Given the description of an element on the screen output the (x, y) to click on. 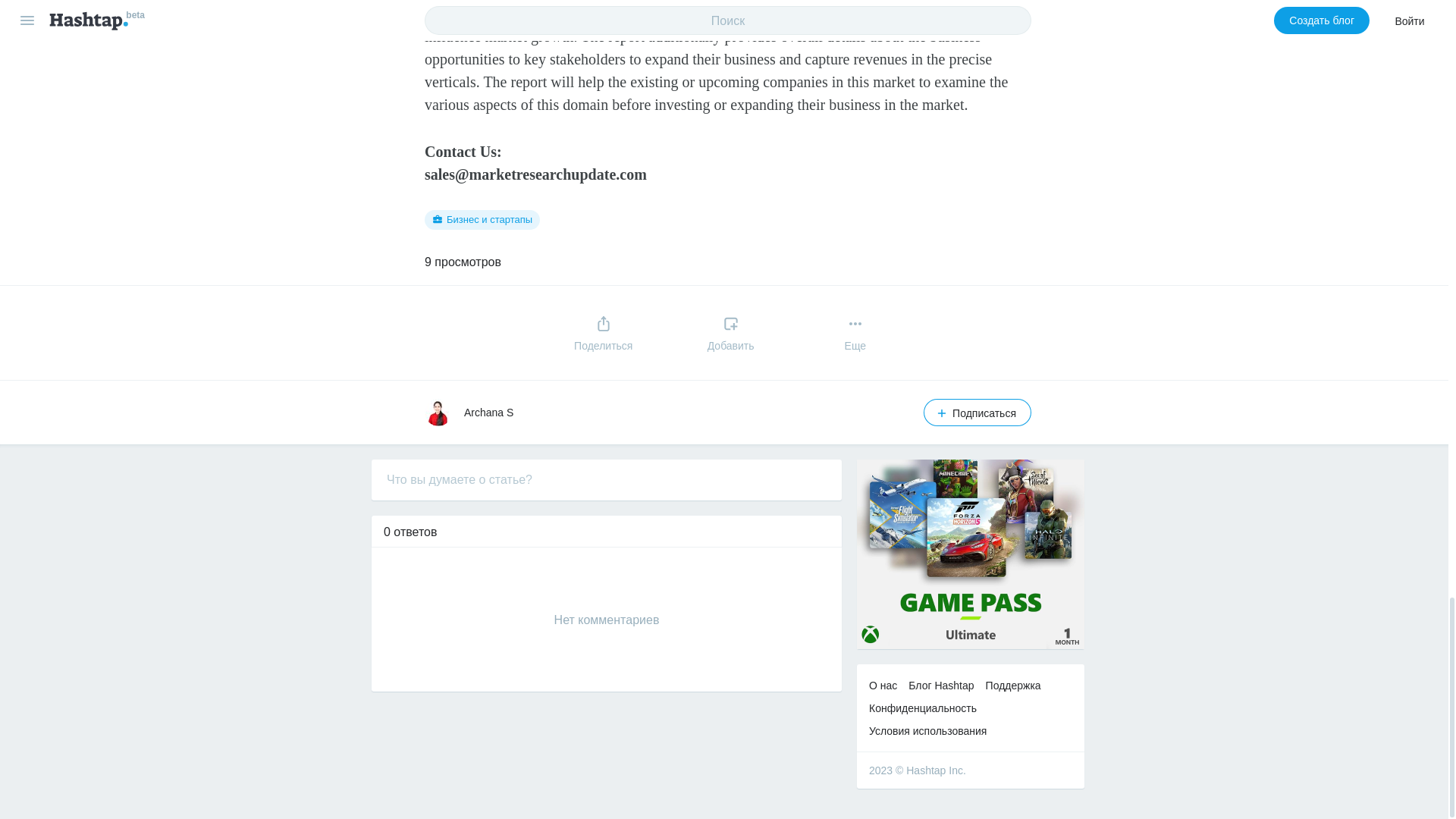
Archana S (488, 412)
A (438, 411)
